Given the description of an element on the screen output the (x, y) to click on. 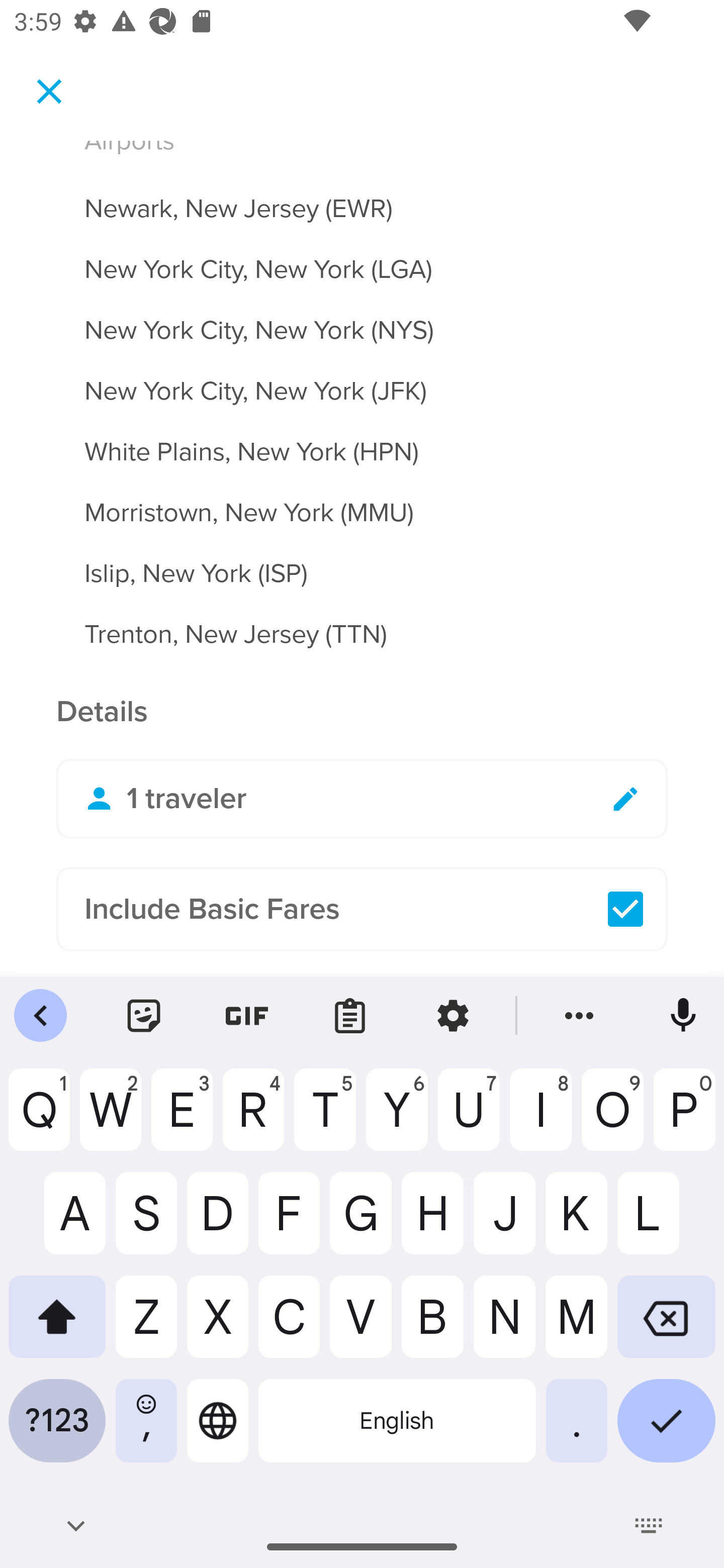
Cancel (49, 90)
Newark, New Jersey (EWR) (361, 196)
New York City, New York (LGA) (361, 257)
New York City, New York (NYS) (361, 318)
New York City, New York (JFK) (361, 379)
White Plains, New York (HPN) (361, 440)
Morristown, New York (MMU) (361, 500)
Islip, New York (ISP) (361, 561)
Trenton, New Jersey (TTN) (361, 634)
1 traveler Edit Travelers (361, 799)
Include Basic Fares (361, 909)
